Given the description of an element on the screen output the (x, y) to click on. 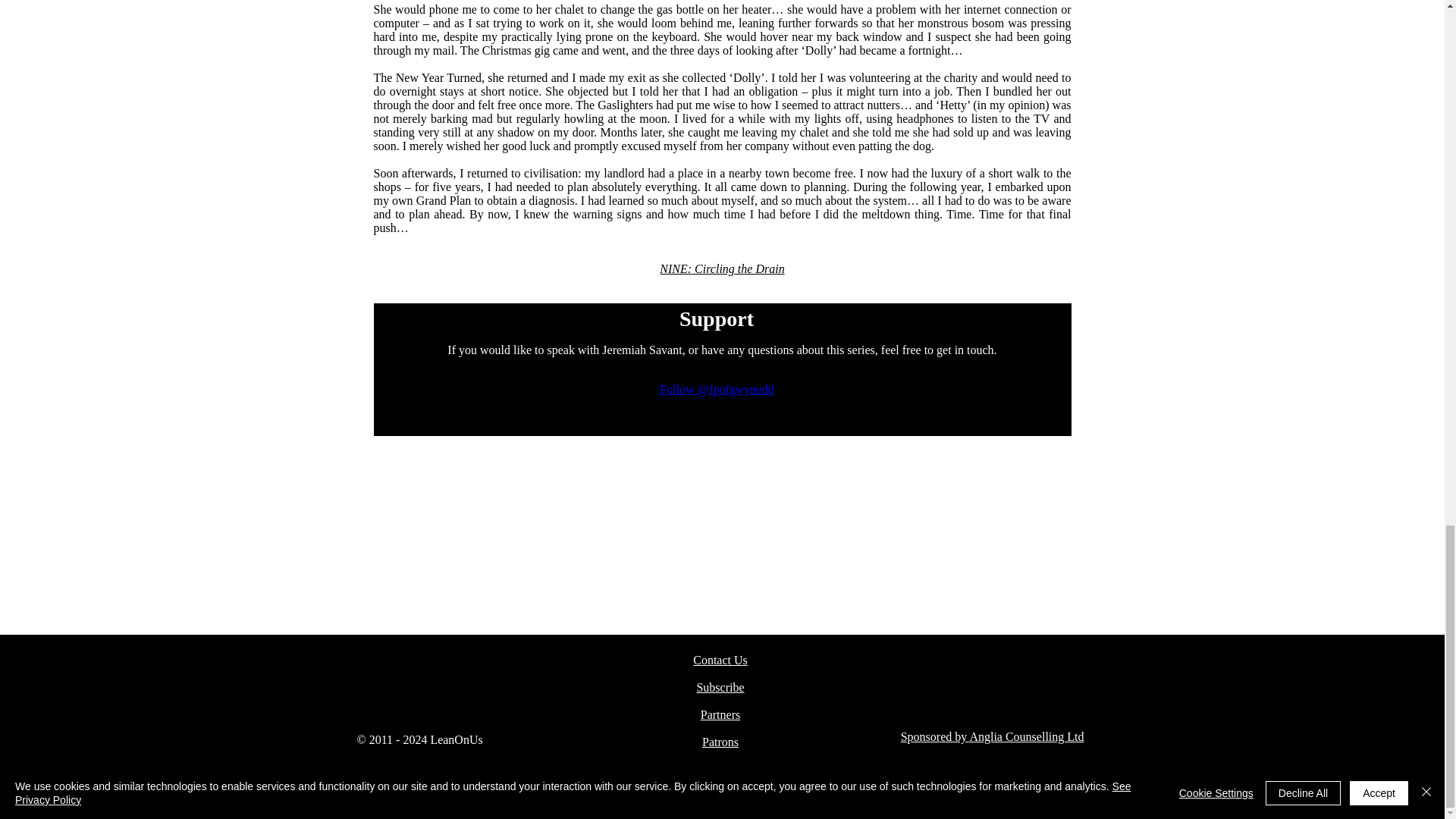
Partners (719, 714)
Embedded Content (717, 401)
Patrons (719, 741)
Subscribe (719, 686)
NINE: Circling the Drain (721, 268)
Anglia Counselling Ltd (1026, 736)
Contact Us (720, 659)
